Given the description of an element on the screen output the (x, y) to click on. 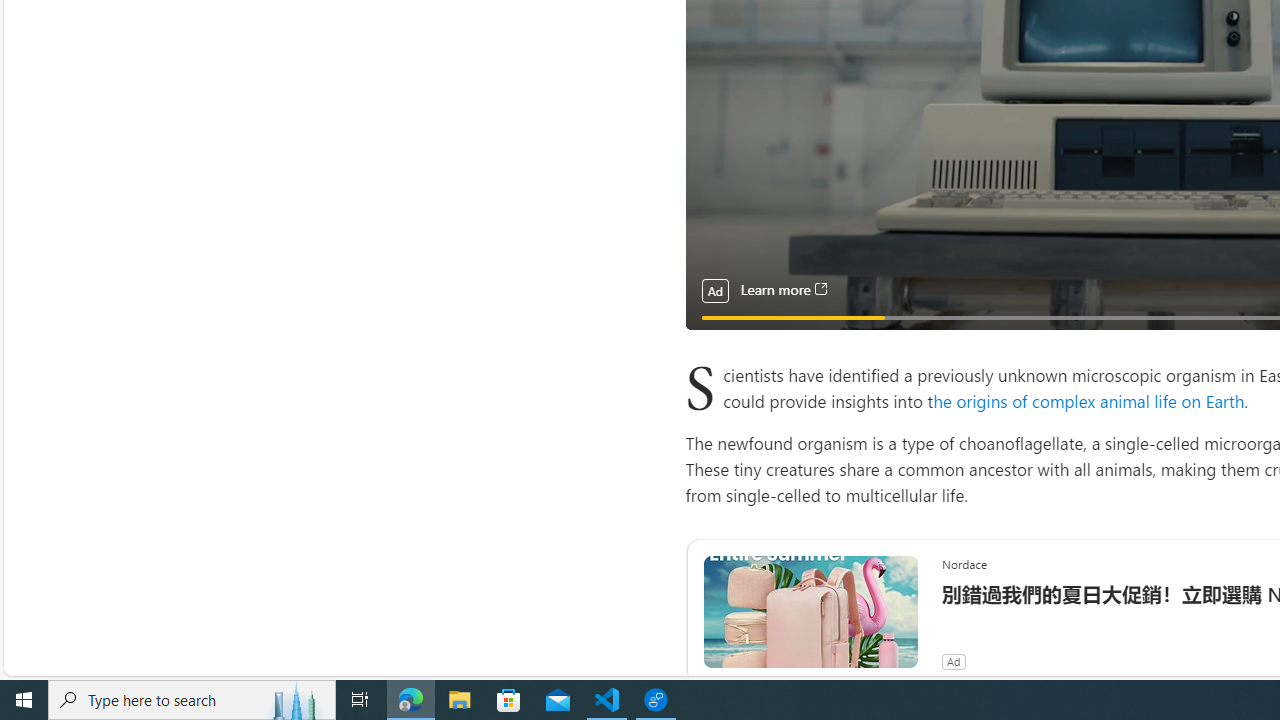
he origins of complex animal life on Earth (1089, 399)
Pause (714, 340)
Learn more (783, 290)
